Given the description of an element on the screen output the (x, y) to click on. 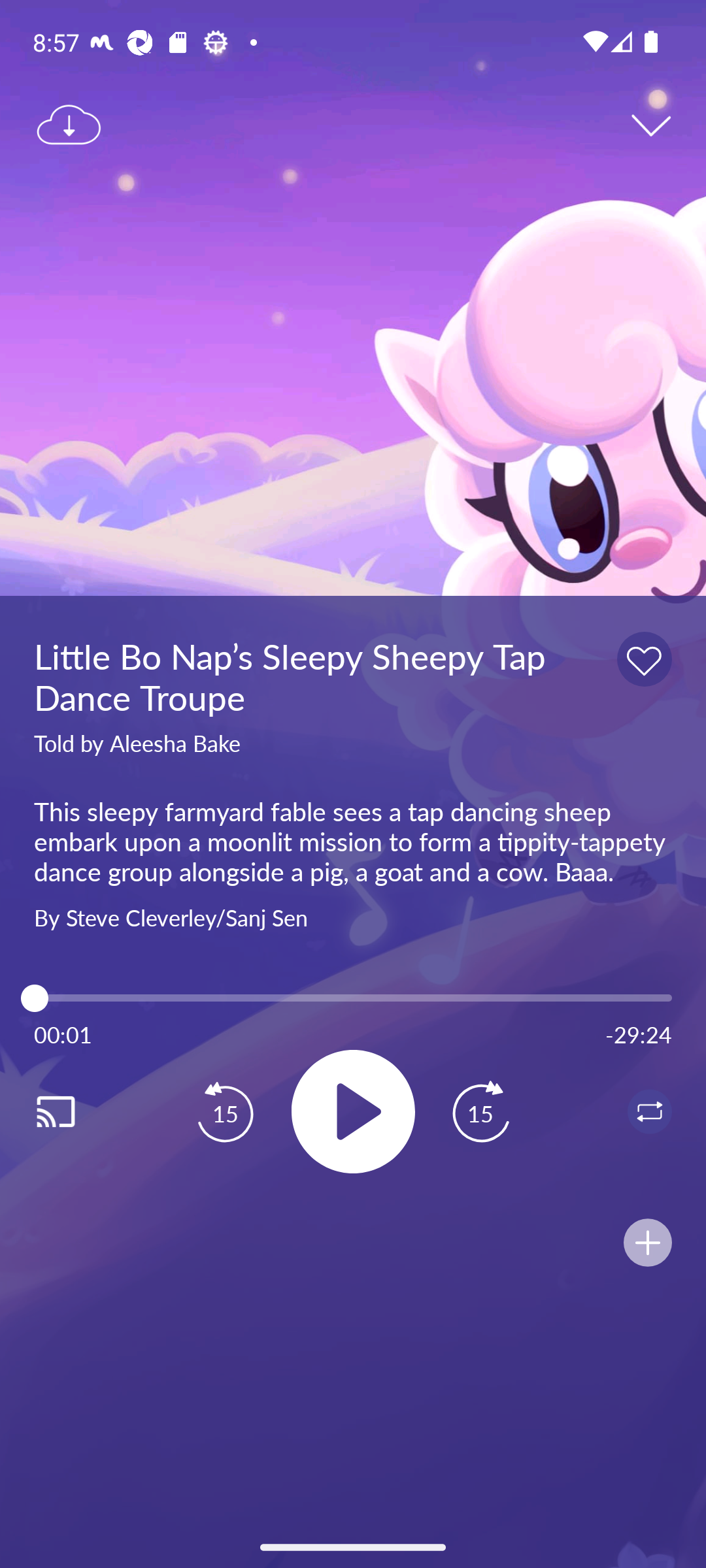
1.0 (352, 997)
Cast. Disconnected (76, 1111)
